Given the description of an element on the screen output the (x, y) to click on. 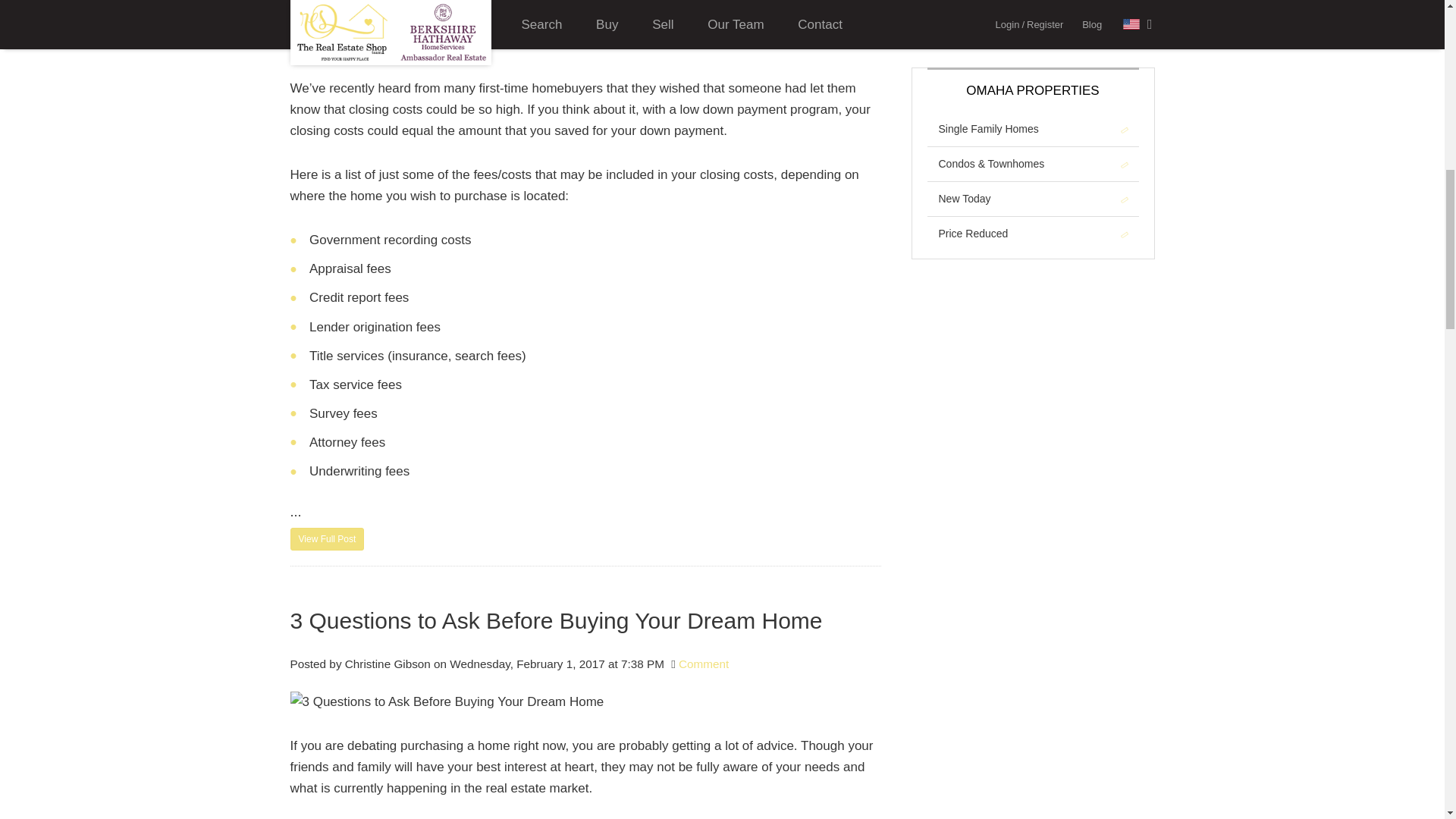
3 Questions to Ask Before Buying Your Dream Home (446, 701)
3 Questions to Ask Before Buying Your Dream Home (584, 620)
Have You Saved Enough for Closing Costs? (326, 538)
